Given the description of an element on the screen output the (x, y) to click on. 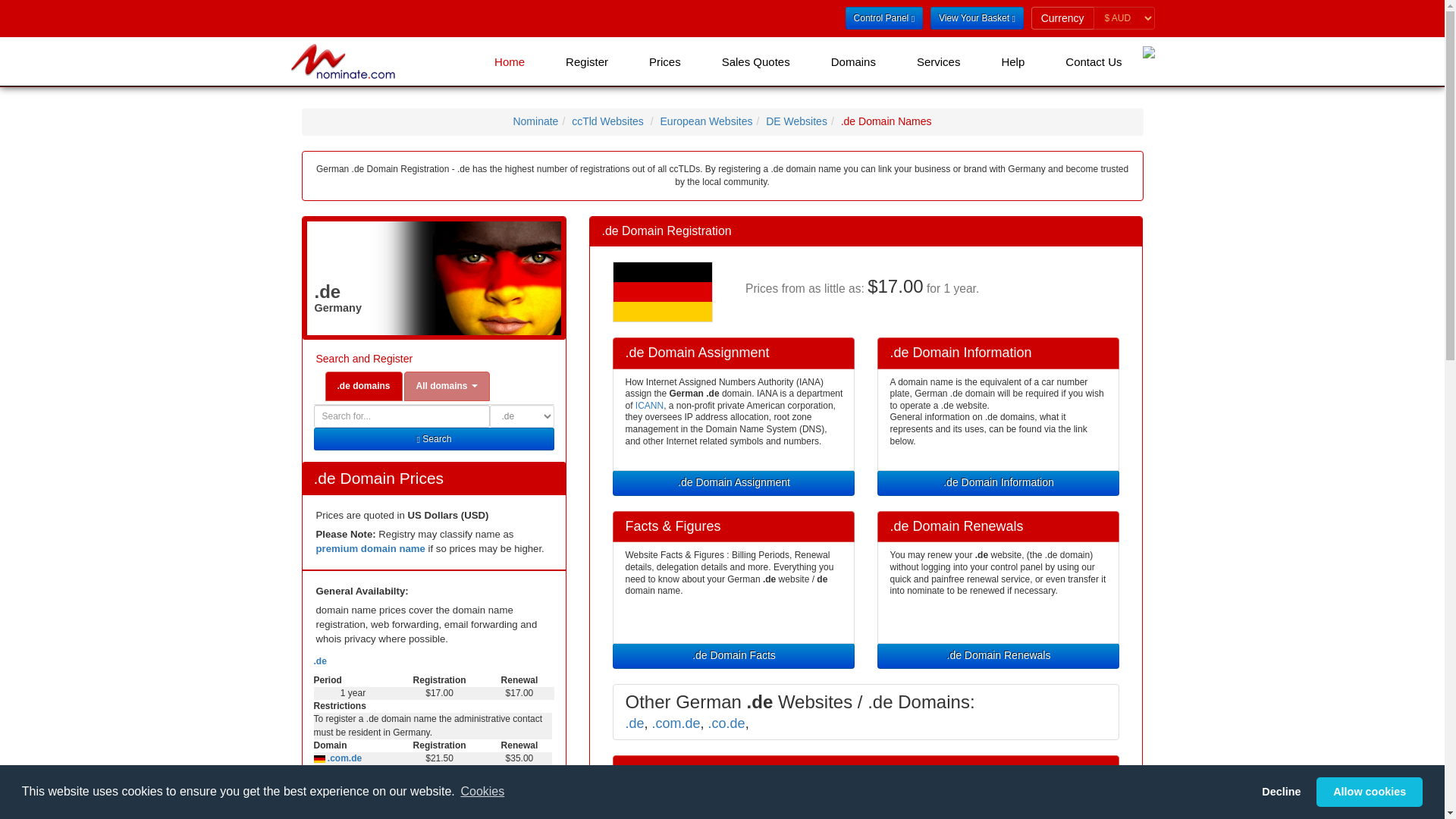
DEDomains (796, 121)
Control Panel Login (884, 17)
Home (509, 61)
Cookies (482, 791)
Register (586, 61)
View Your Shopping Basket (976, 17)
Allow cookies (1369, 791)
cctld Websites (607, 121)
de (733, 655)
Control Panel (884, 17)
